Given the description of an element on the screen output the (x, y) to click on. 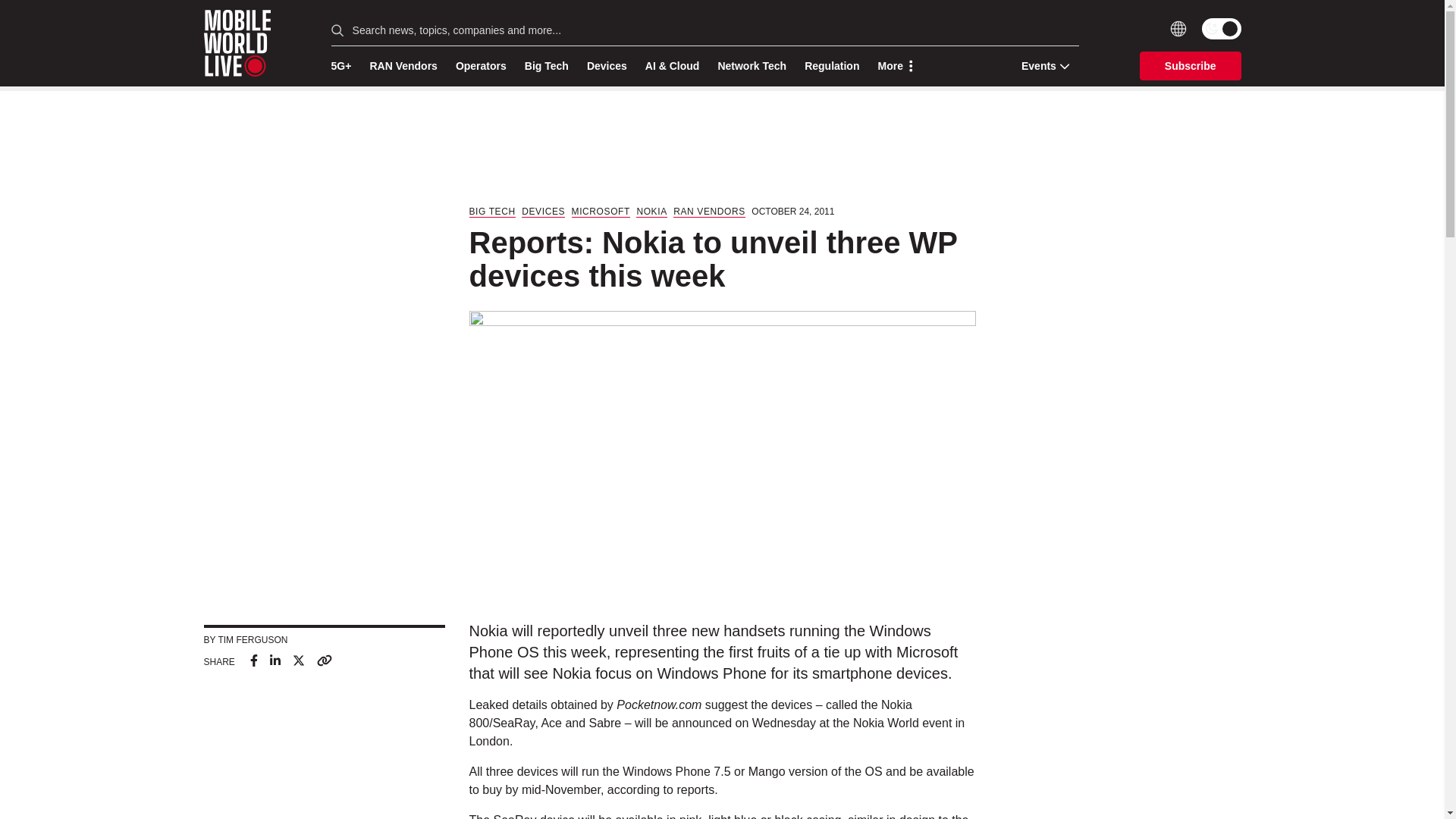
Events (1040, 65)
RAN Vendors (402, 65)
Devices (606, 65)
Subscribe (1190, 65)
Big Tech (546, 65)
Network Tech (751, 65)
Operators (480, 65)
Regulation (832, 65)
More (894, 65)
